Given the description of an element on the screen output the (x, y) to click on. 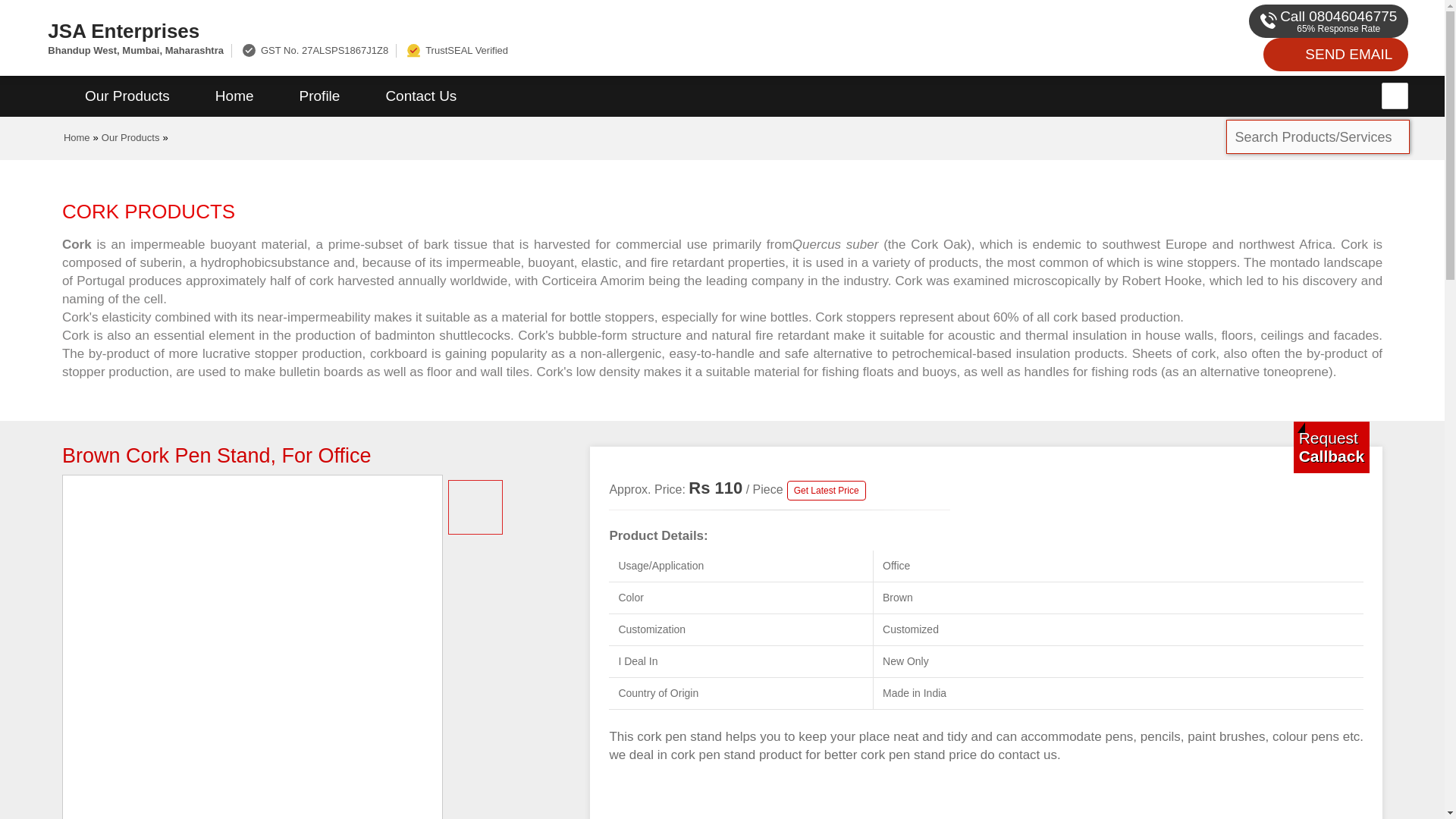
Home (234, 96)
Our Products (127, 96)
Home (77, 137)
Get a Call from us (1332, 447)
Contact Us (420, 96)
Our Products (130, 137)
Profile (319, 96)
JSA Enterprises (485, 31)
